Given the description of an element on the screen output the (x, y) to click on. 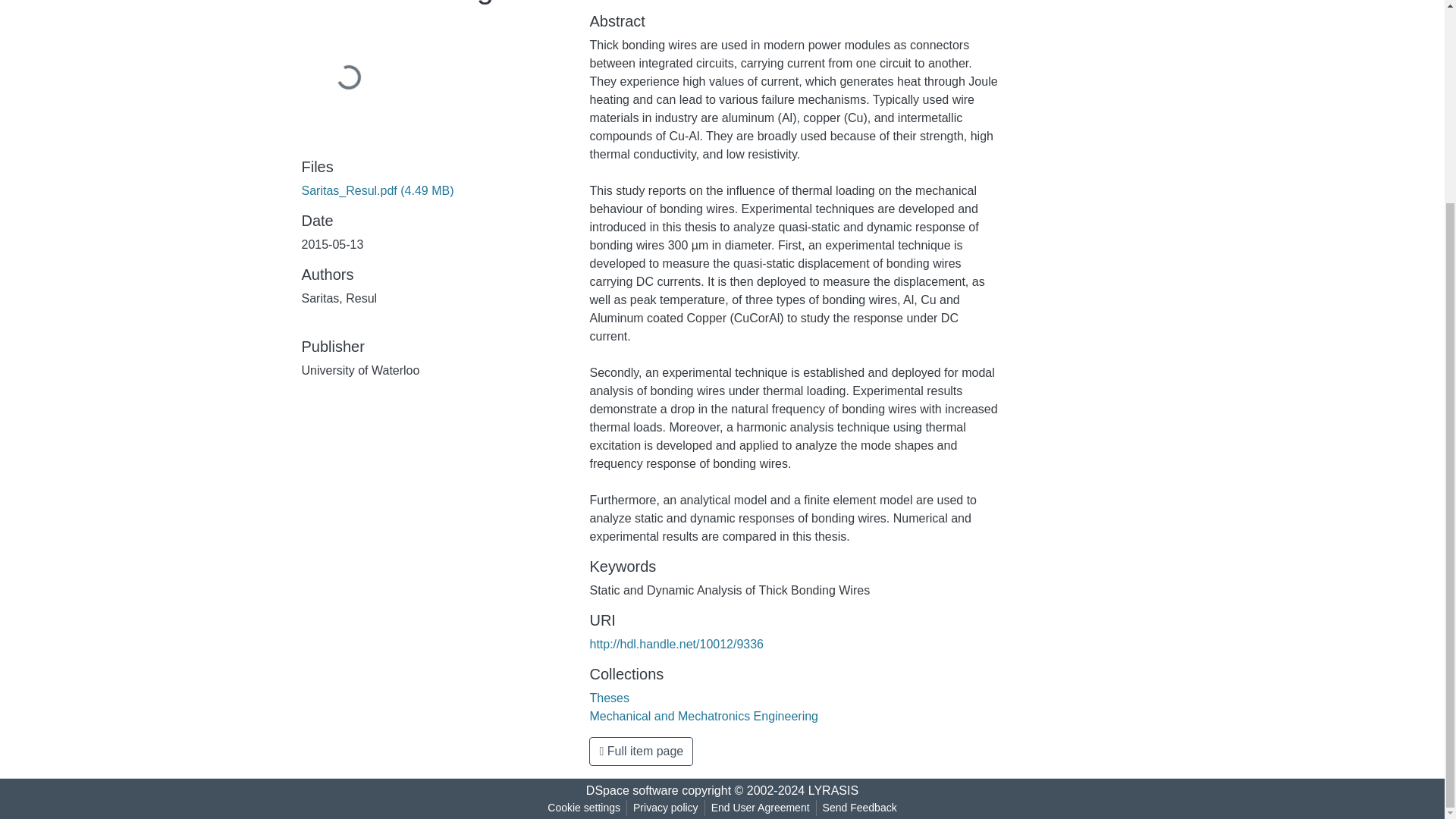
Theses (608, 697)
Privacy policy (665, 807)
Send Feedback (859, 807)
LYRASIS (833, 789)
End User Agreement (759, 807)
Cookie settings (583, 807)
Mechanical and Mechatronics Engineering (703, 716)
Full item page (641, 751)
DSpace software (632, 789)
